Given the description of an element on the screen output the (x, y) to click on. 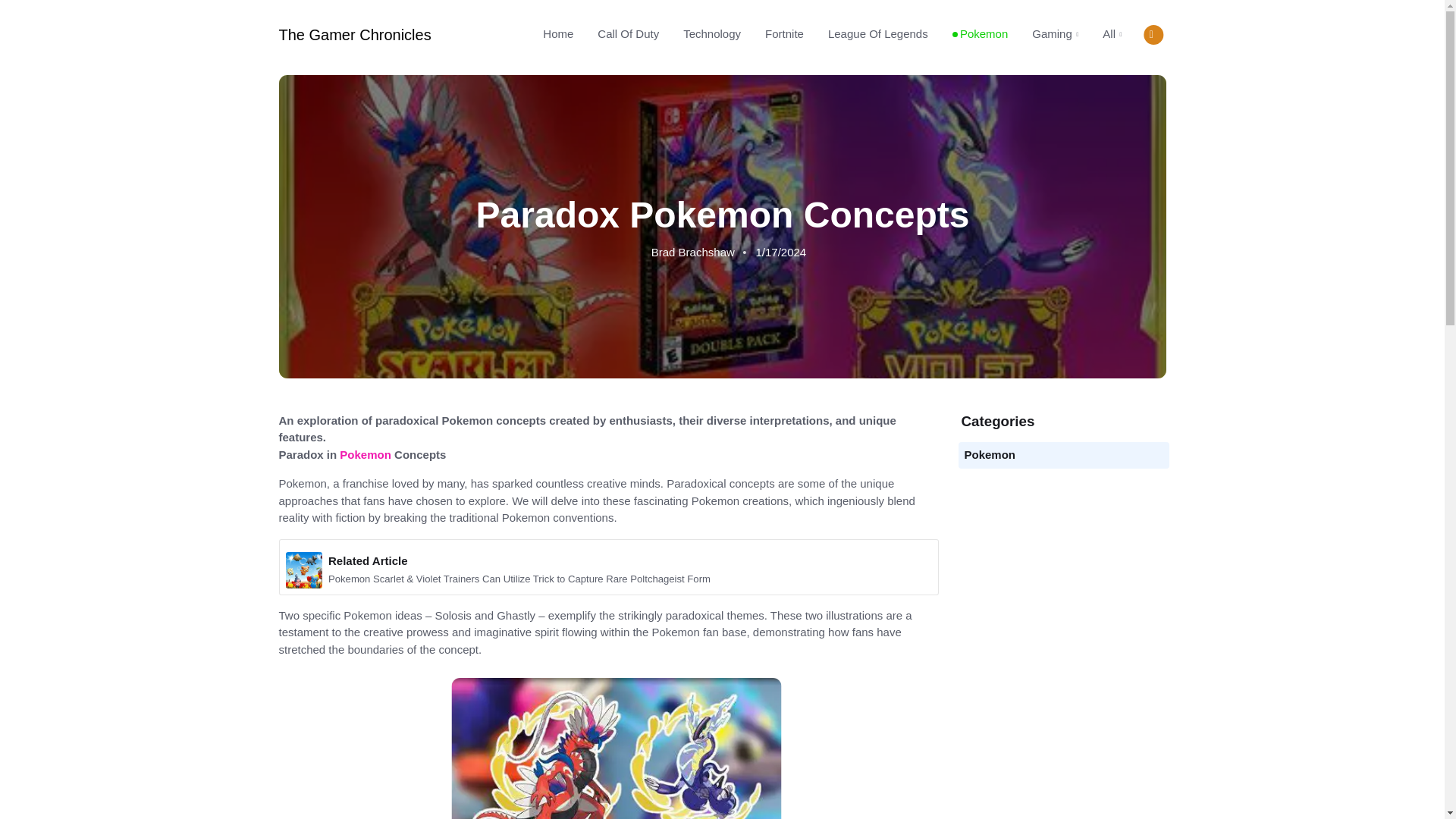
Fortnite (783, 33)
Gaming (1055, 34)
Technology (711, 33)
Brad Brachshaw (691, 251)
The Gamer Chronicles (354, 34)
Pokemon (989, 454)
Pokemon (980, 33)
Pokemon (365, 454)
League Of Legends (877, 33)
